Given the description of an element on the screen output the (x, y) to click on. 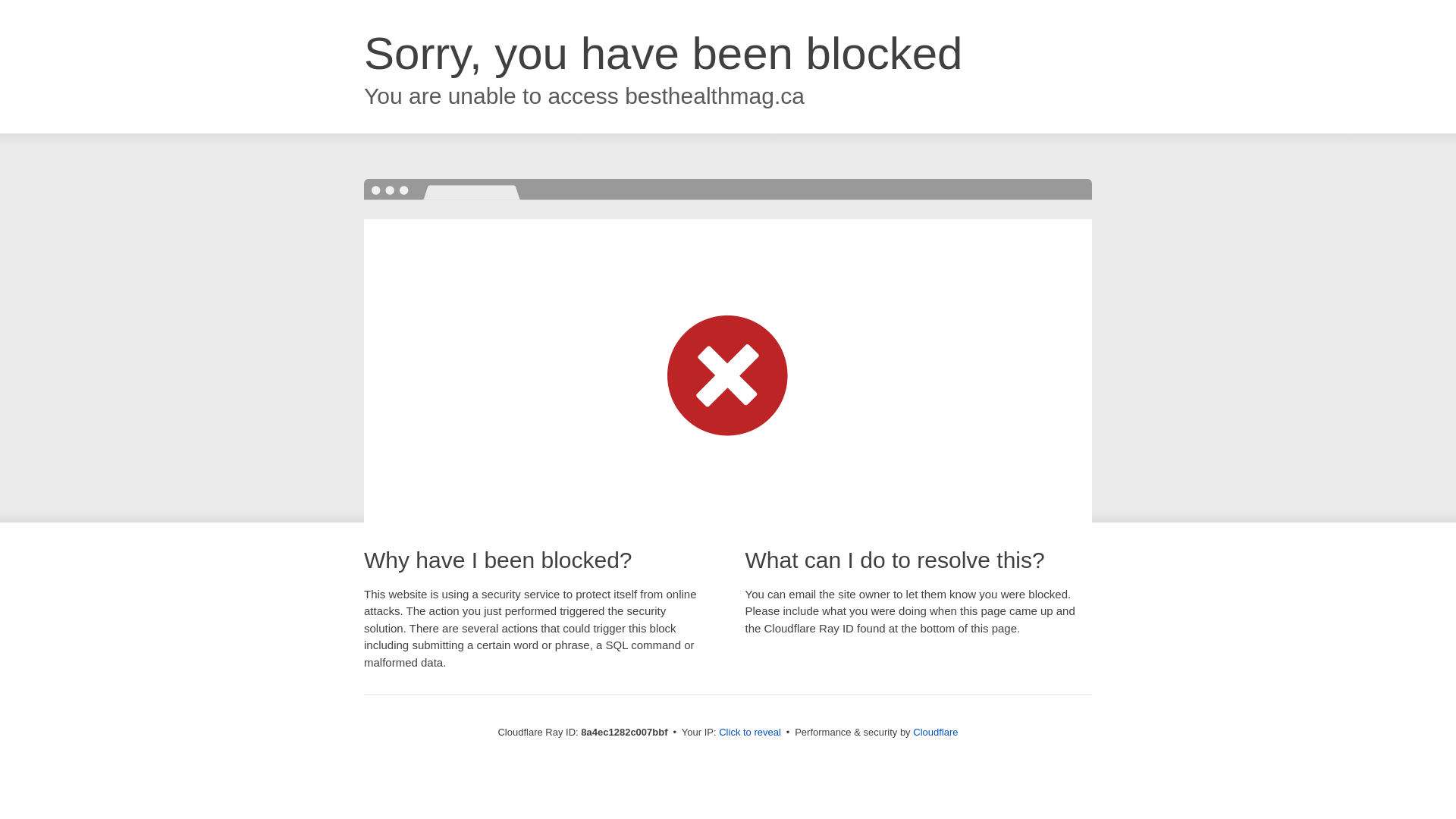
Cloudflare (935, 731)
Click to reveal (749, 732)
